Given the description of an element on the screen output the (x, y) to click on. 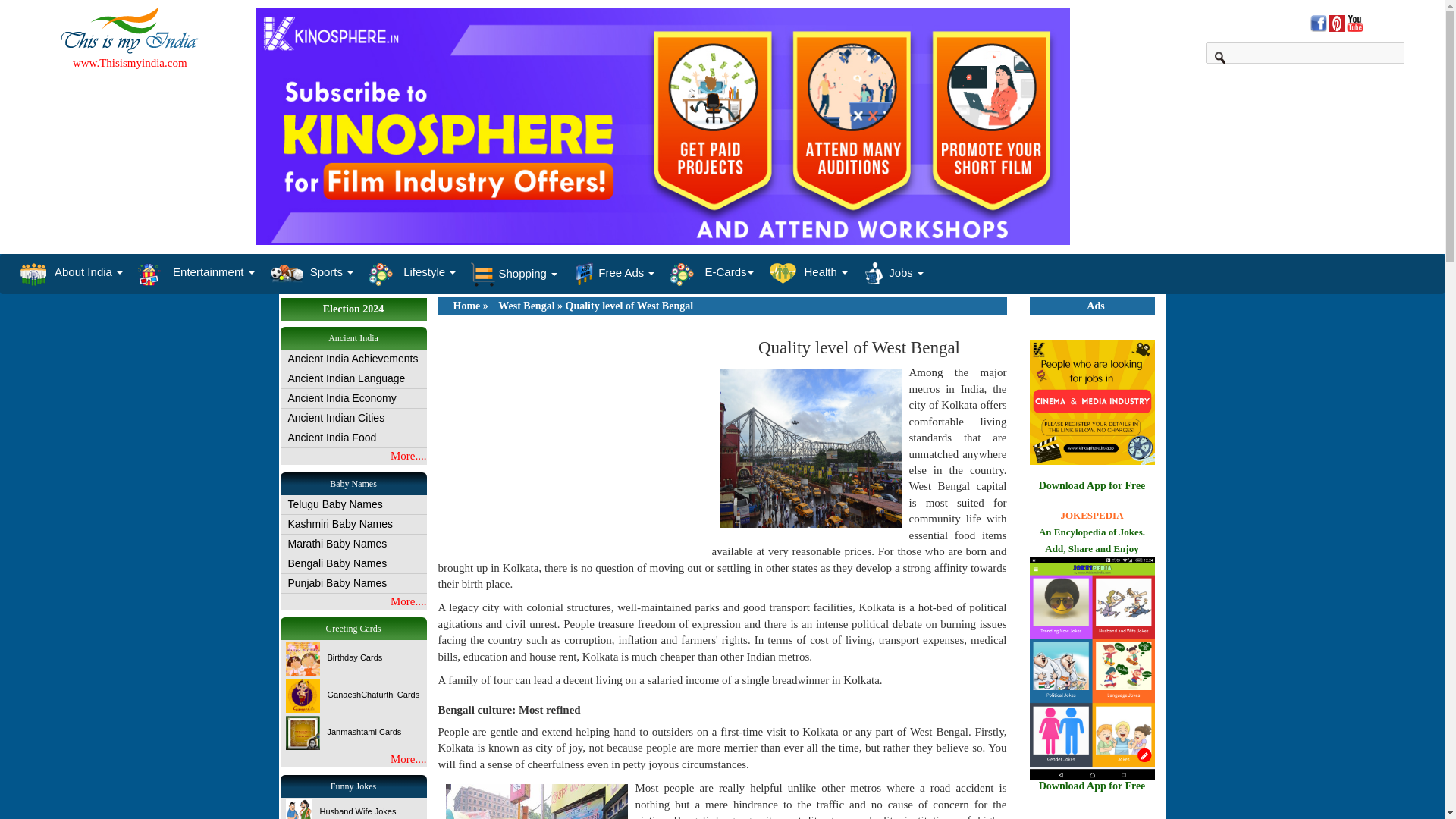
www.Thisismyindia.com (129, 62)
India News (1353, 27)
India News (1335, 27)
About India (71, 271)
Entertainment (196, 271)
India News (1317, 27)
